Given the description of an element on the screen output the (x, y) to click on. 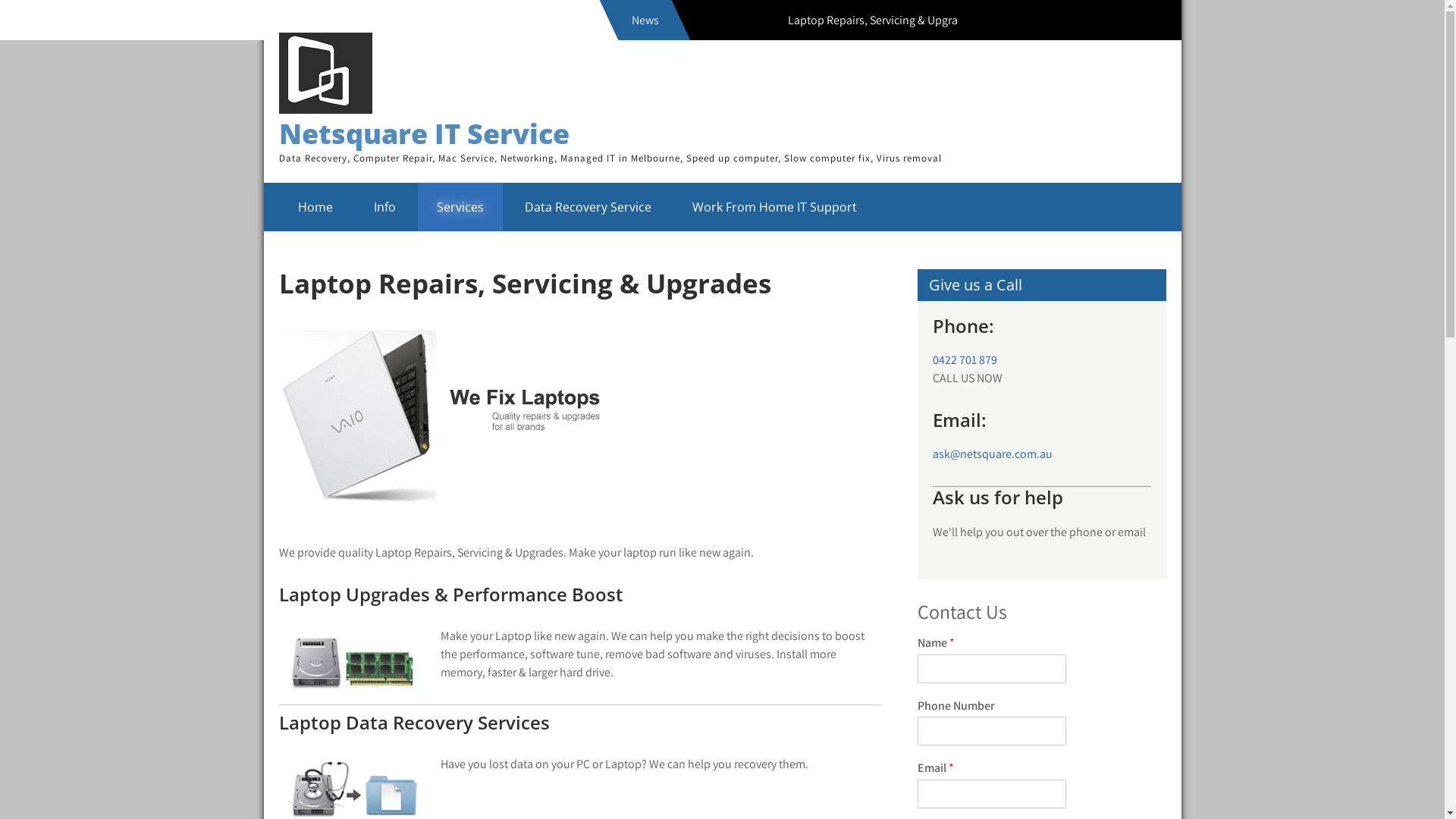
ask@netsquare.com.au Element type: text (992, 453)
Home Element type: text (315, 206)
Netsquare IT Service Element type: text (424, 133)
Info Element type: text (384, 206)
0422 701 879 Element type: text (964, 359)
Work From Home IT Support Element type: text (774, 206)
Data Recovery Service Element type: text (587, 206)
Services Element type: text (459, 206)
